Given the description of an element on the screen output the (x, y) to click on. 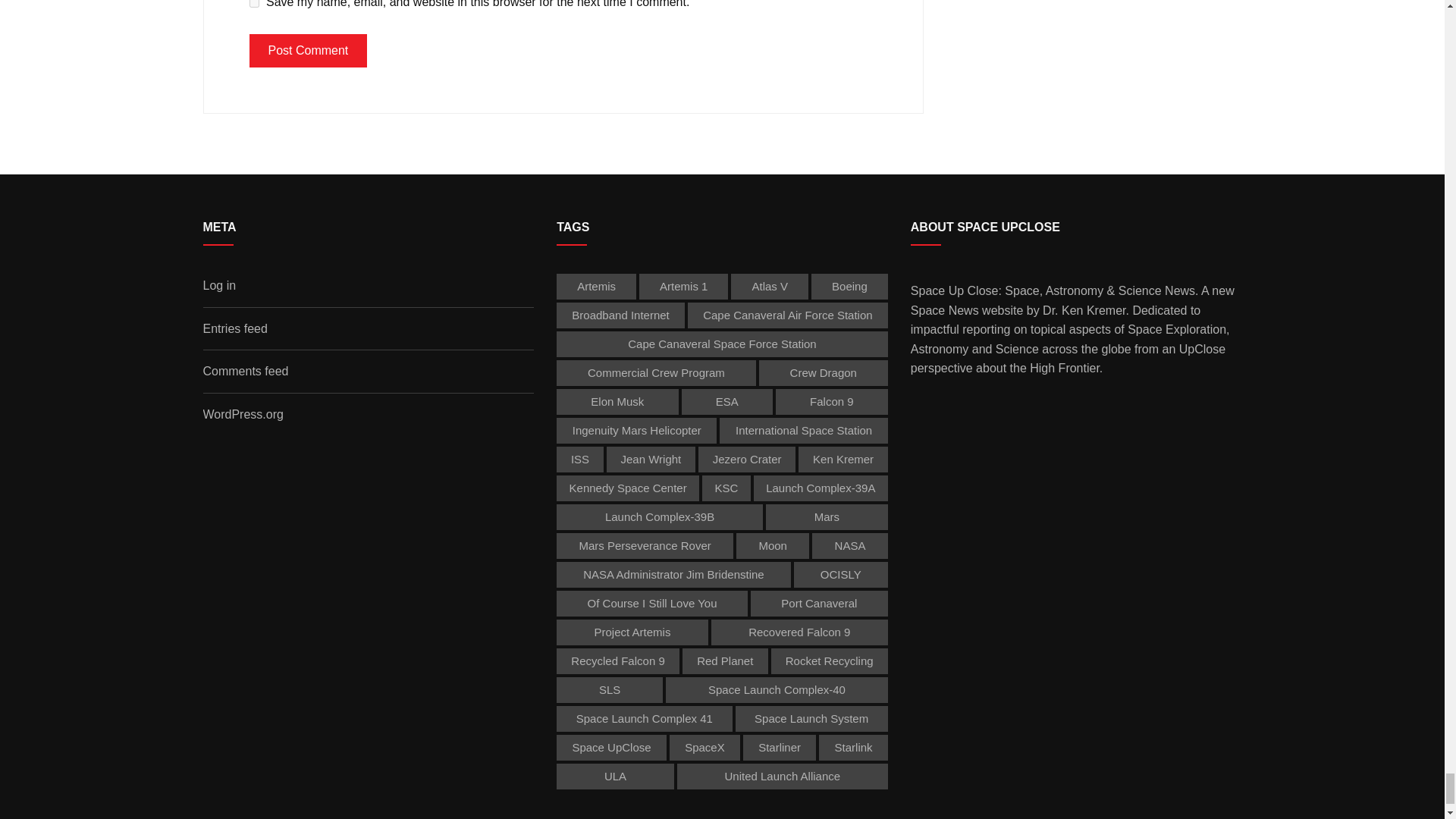
Post Comment (307, 50)
yes (253, 3)
